Given the description of an element on the screen output the (x, y) to click on. 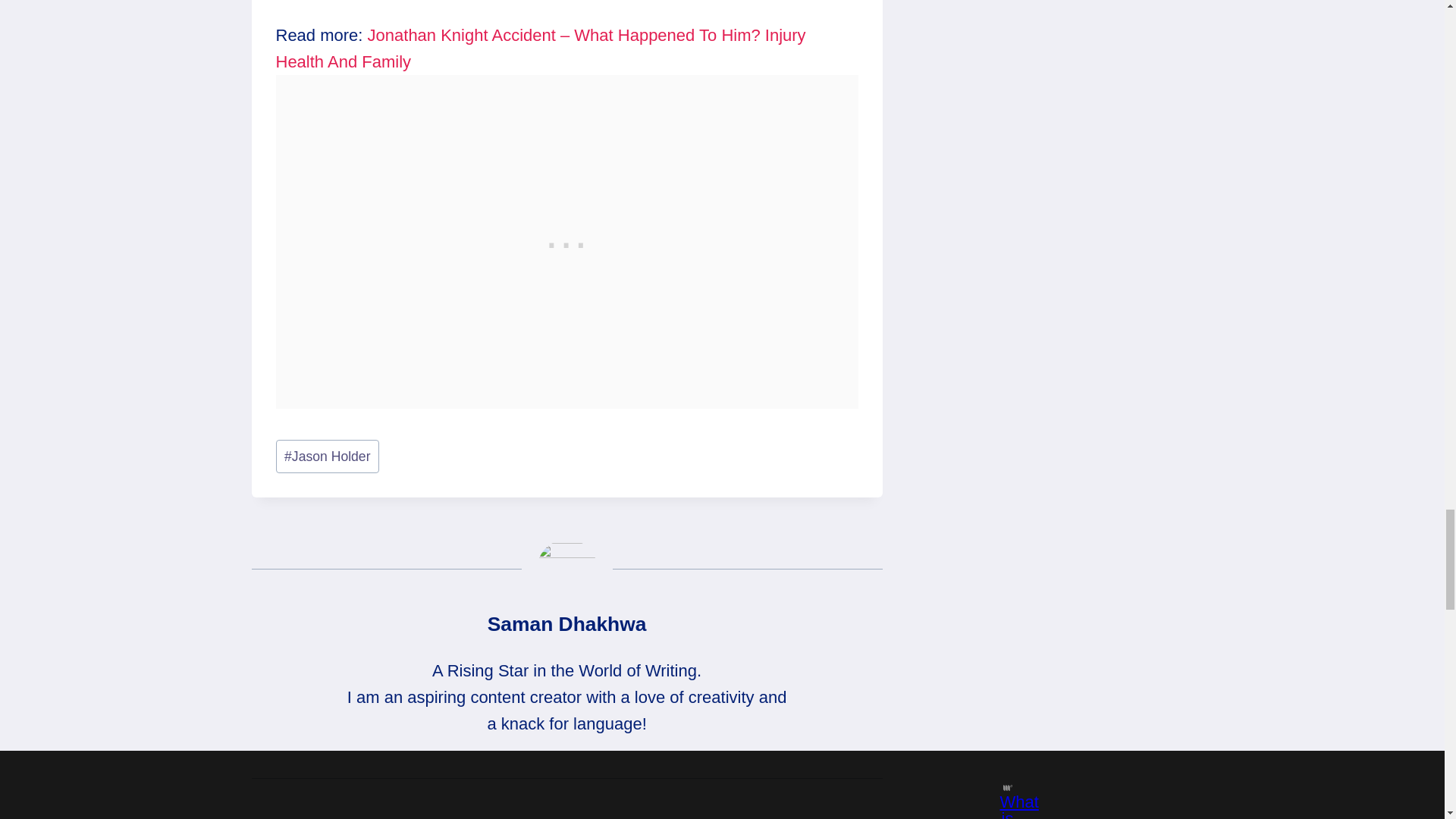
Jason Holder (328, 456)
Saman Dhakhwa (566, 623)
Posts by Saman Dhakhwa (566, 623)
